Given the description of an element on the screen output the (x, y) to click on. 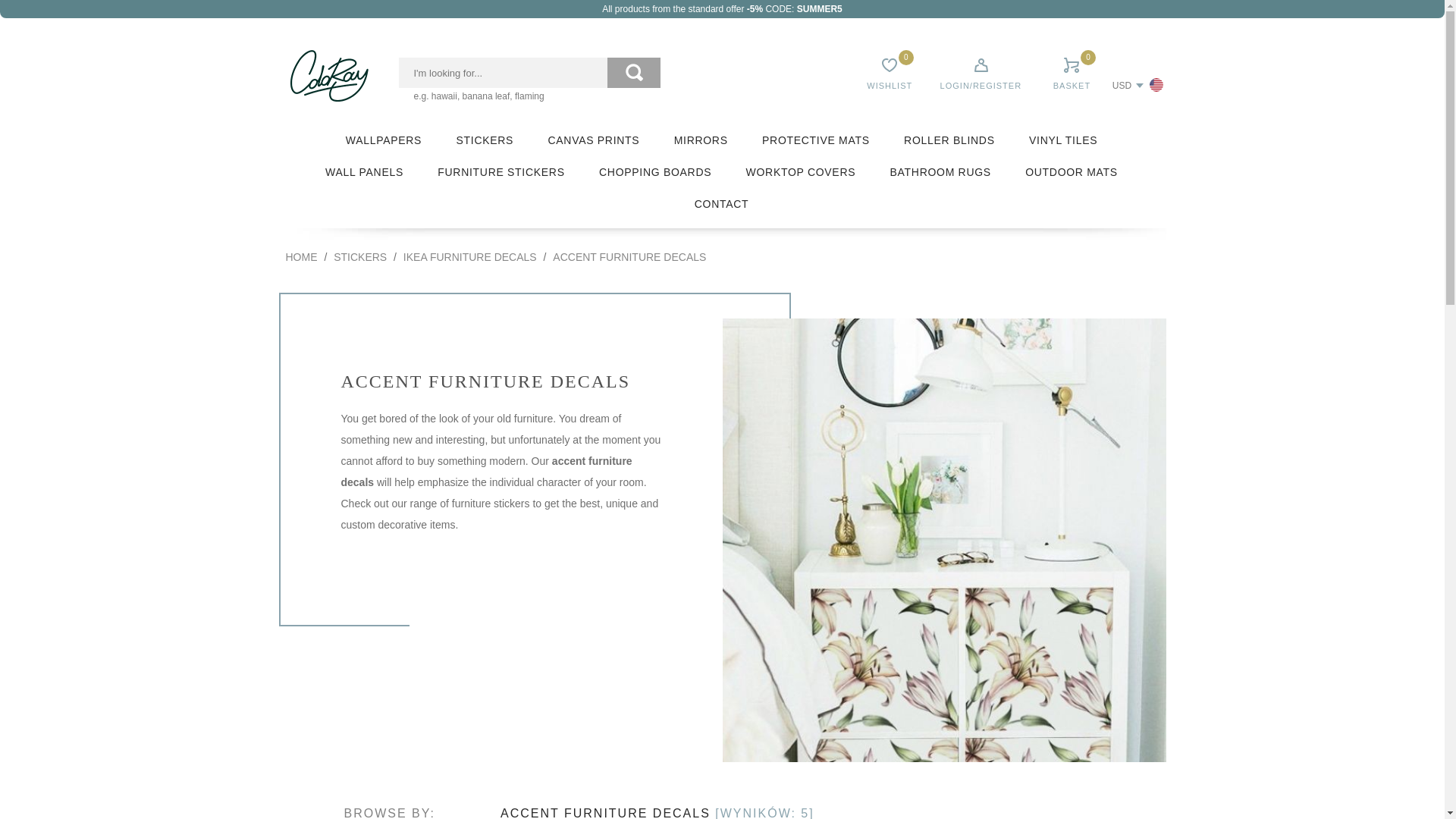
your cart (1070, 69)
Wallpapers (383, 140)
your account (980, 69)
flaming (529, 95)
hawaii (443, 95)
go to main page (328, 75)
banana leaf (487, 95)
